Given the description of an element on the screen output the (x, y) to click on. 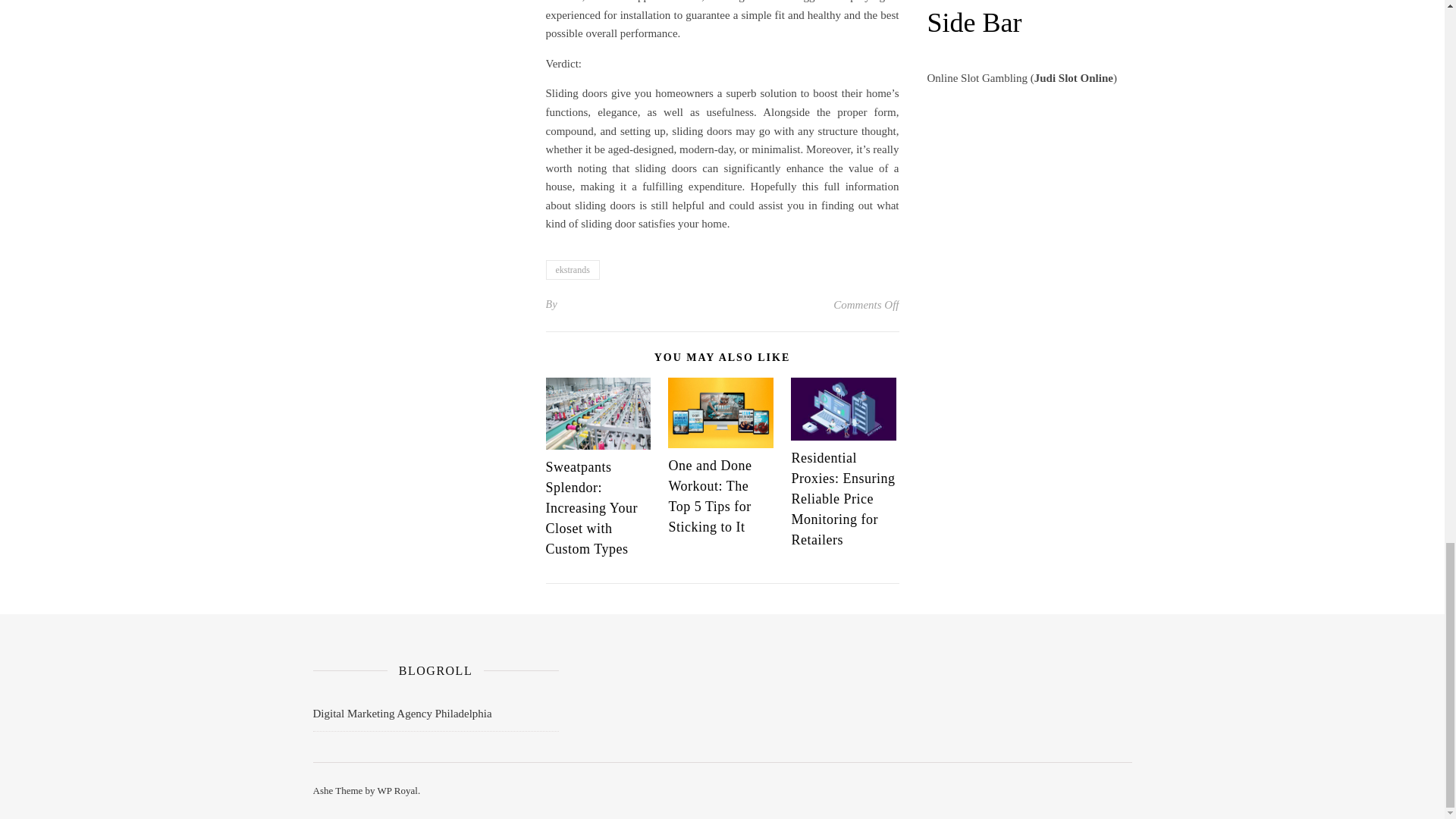
One and Done Workout: The Top 5 Tips for Sticking to It (709, 495)
ekstrands (572, 270)
